Given the description of an element on the screen output the (x, y) to click on. 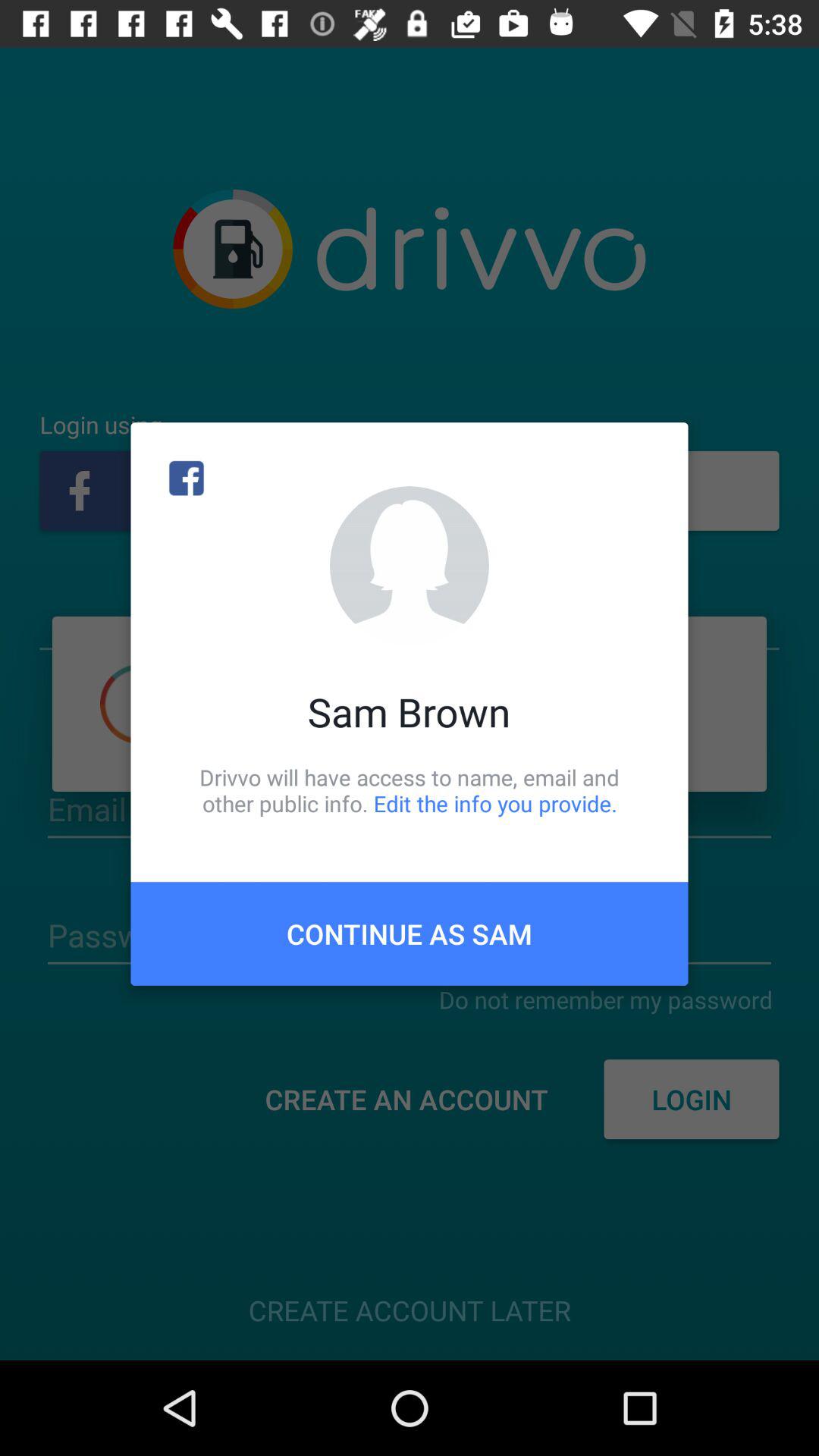
open item below drivvo will have (409, 933)
